Given the description of an element on the screen output the (x, y) to click on. 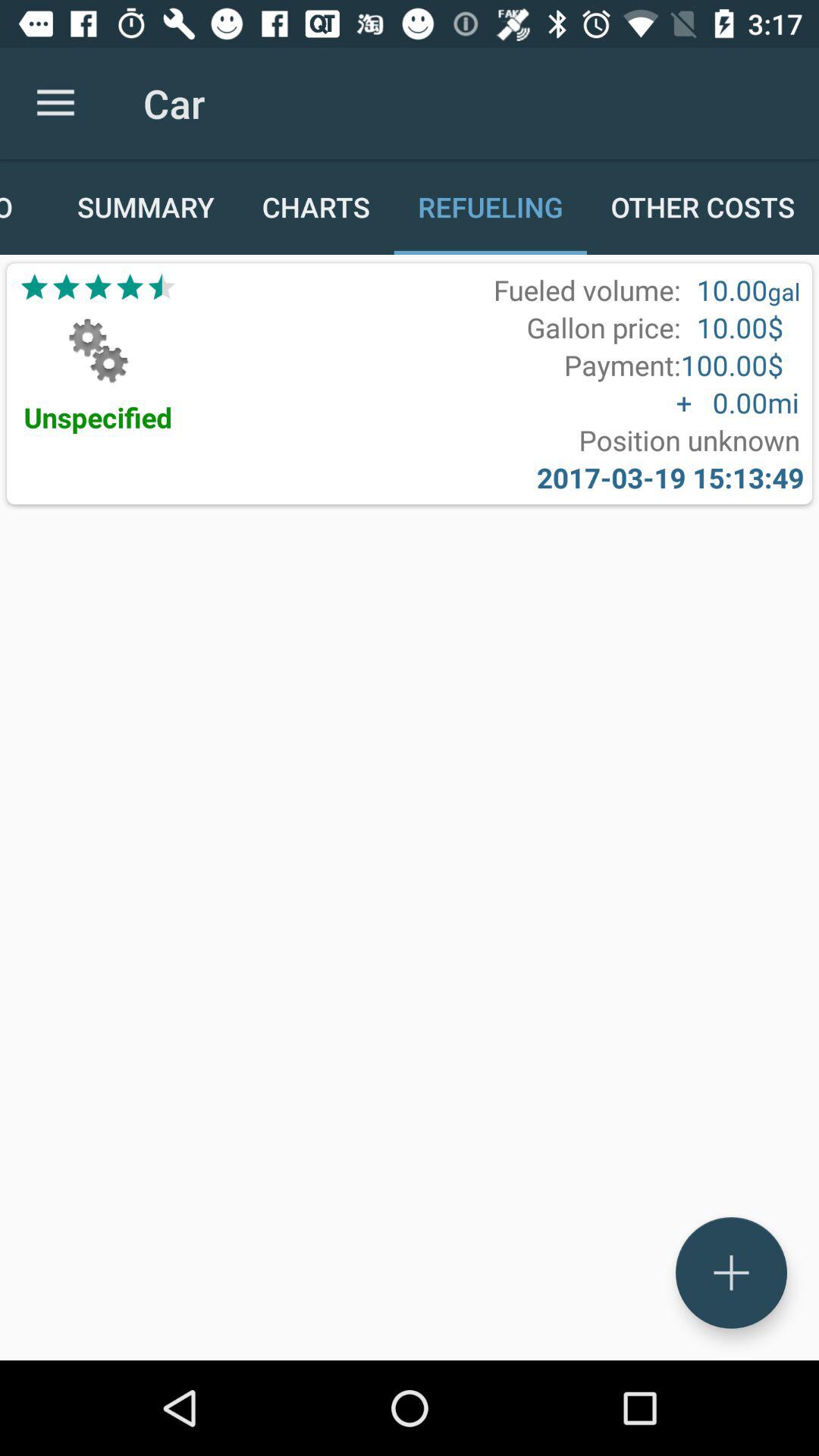
launch the item above gallon price: icon (586, 289)
